Given the description of an element on the screen output the (x, y) to click on. 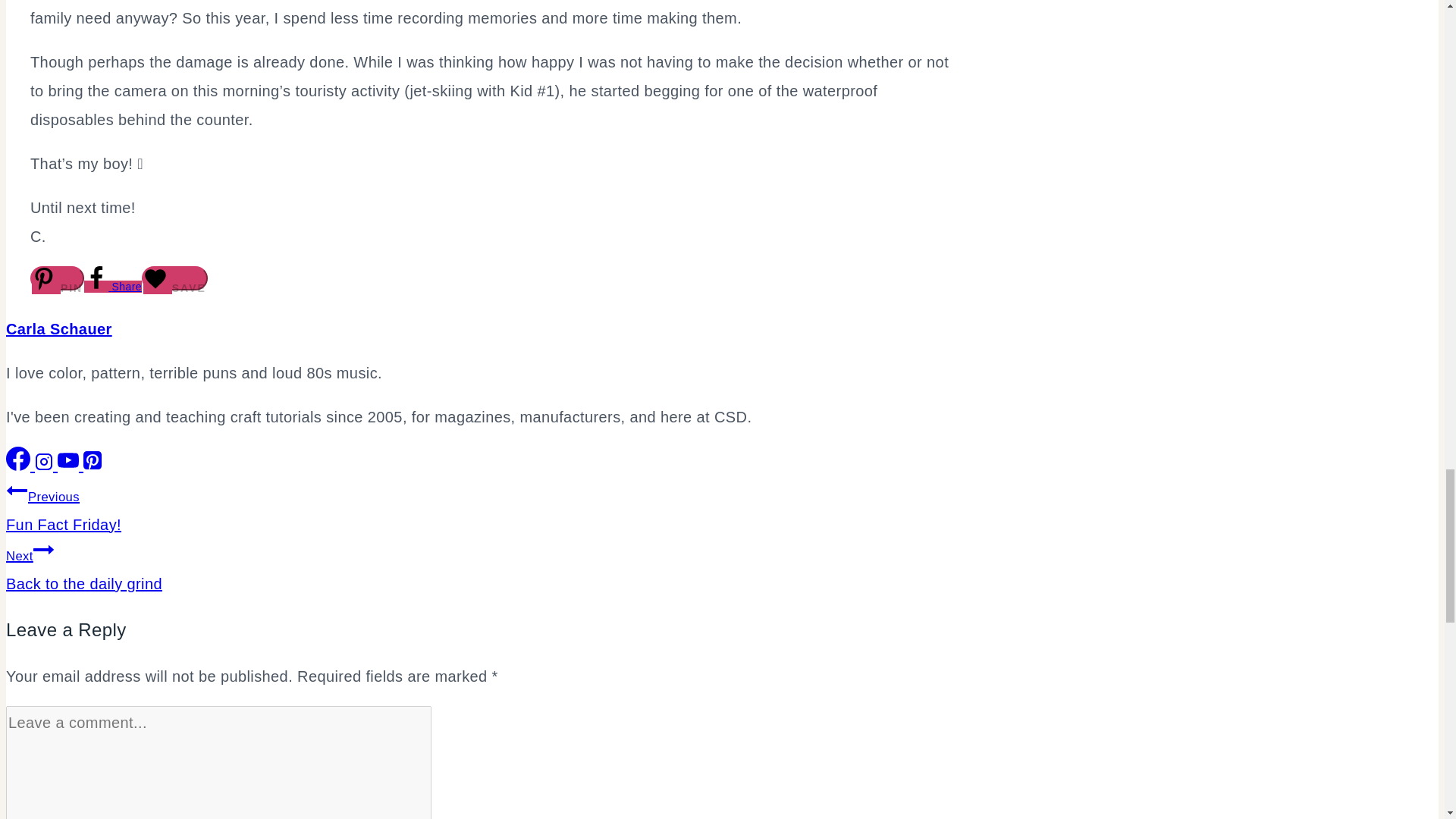
Follow Carla Schauer on Facebook (19, 465)
Follow Carla Schauer on Youtube (70, 465)
Posts by Carla Schauer (58, 329)
Follow Carla Schauer on Instagram (46, 465)
Save to Pinterest (57, 278)
Share on Facebook (112, 286)
Follow Carla Schauer on Pinterest (91, 465)
Save on Grow.me (174, 278)
